Given the description of an element on the screen output the (x, y) to click on. 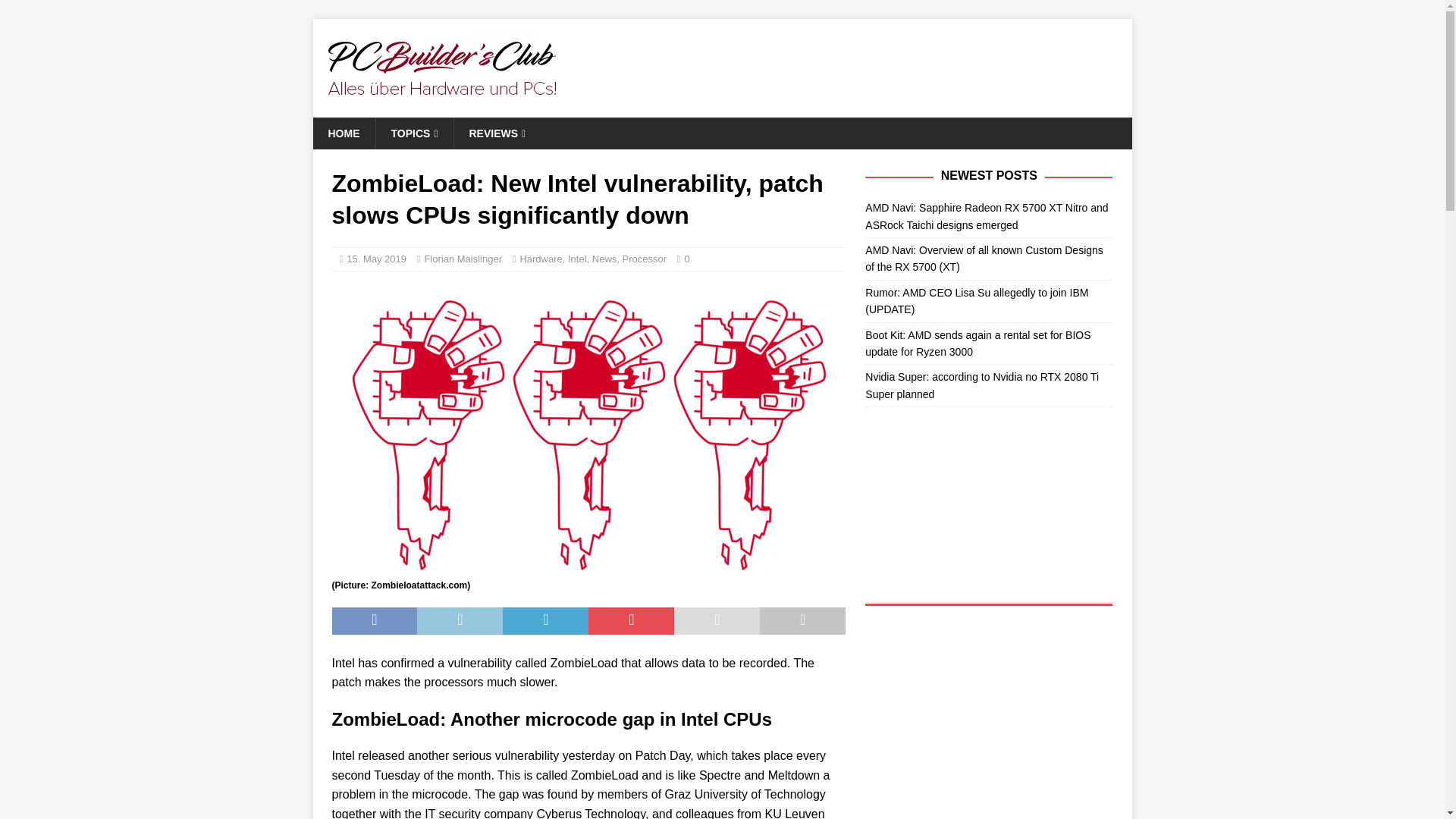
Florian Maislinger (462, 258)
REVIEWS (496, 133)
HOME (343, 133)
News (604, 258)
Intel (576, 258)
Processor (644, 258)
TOPICS (413, 133)
Hardware (540, 258)
15. May 2019 (376, 258)
